Given the description of an element on the screen output the (x, y) to click on. 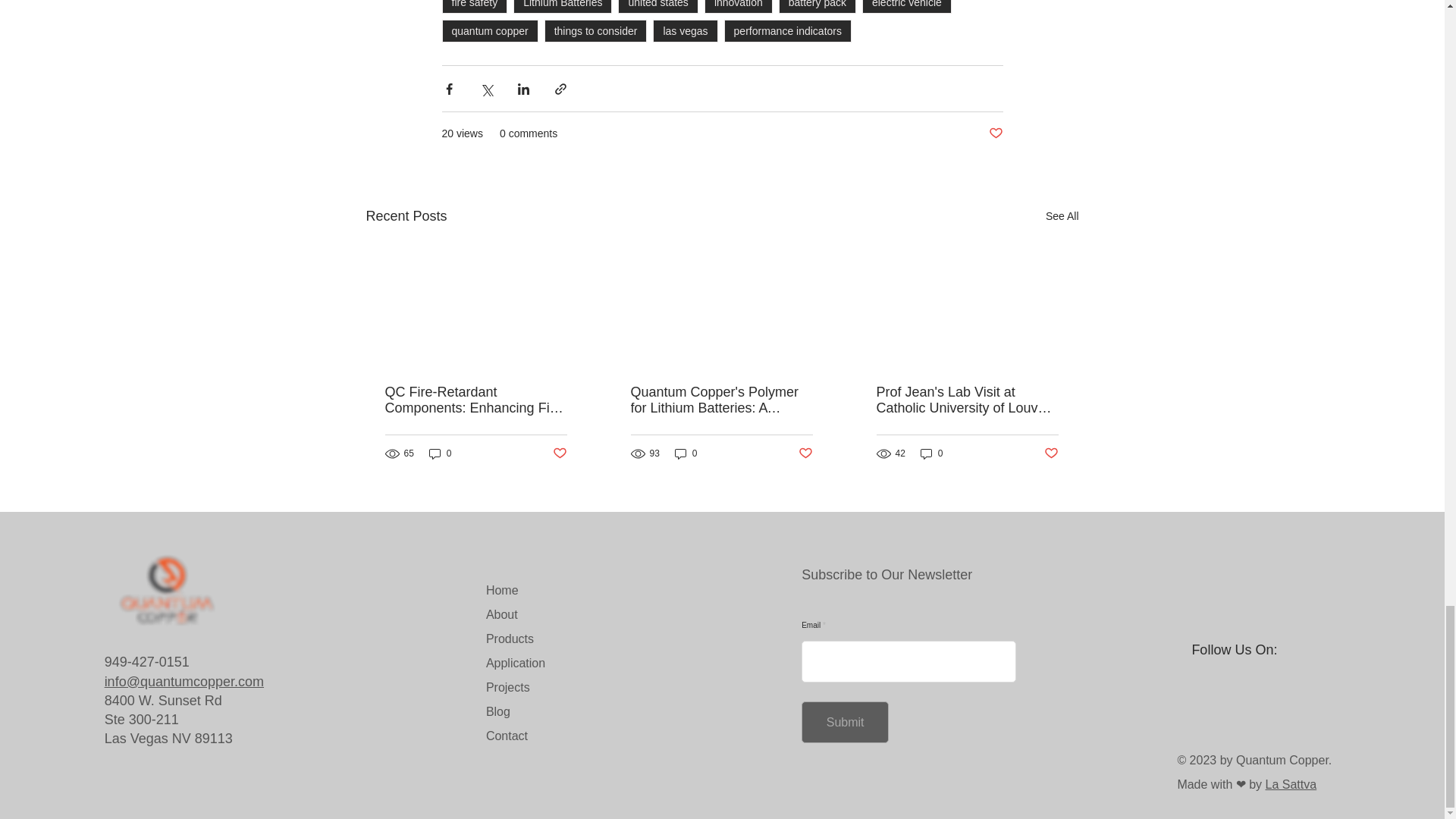
las vegas (684, 30)
0 (685, 453)
Lithium Batteries (562, 6)
0 (440, 453)
See All (1061, 216)
united states (657, 6)
0 (931, 453)
fire safety (473, 6)
Post not marked as liked (558, 453)
